Given the description of an element on the screen output the (x, y) to click on. 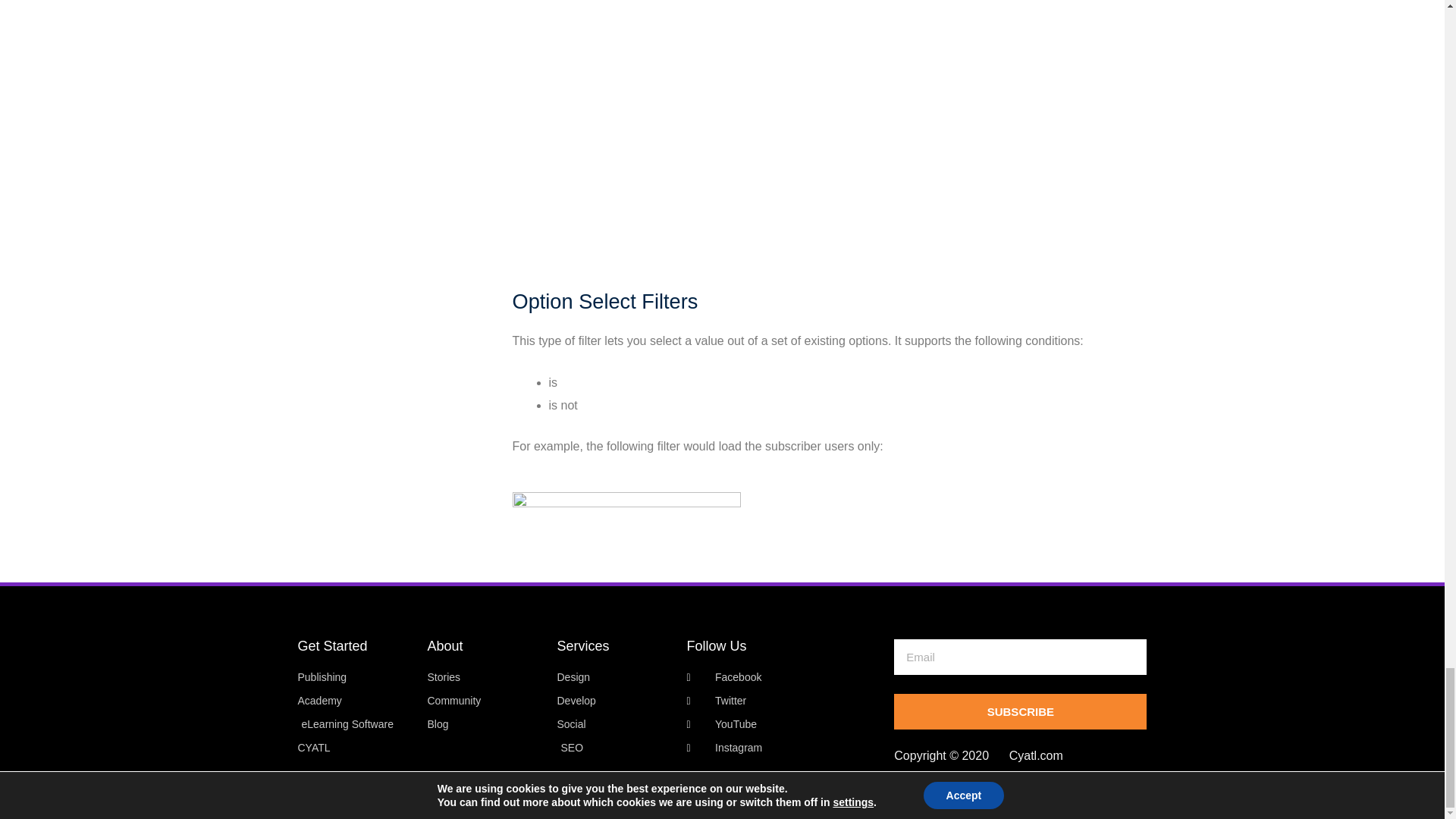
SUBSCRIBE (1020, 711)
Design (613, 677)
Develop (613, 701)
Instagram (783, 748)
Publishing (354, 677)
YouTube (783, 724)
Academy (354, 701)
CYATL (354, 748)
Facebook (783, 677)
Social (613, 724)
SEO (613, 748)
Twitter (783, 701)
eLearning Software (354, 724)
